Given the description of an element on the screen output the (x, y) to click on. 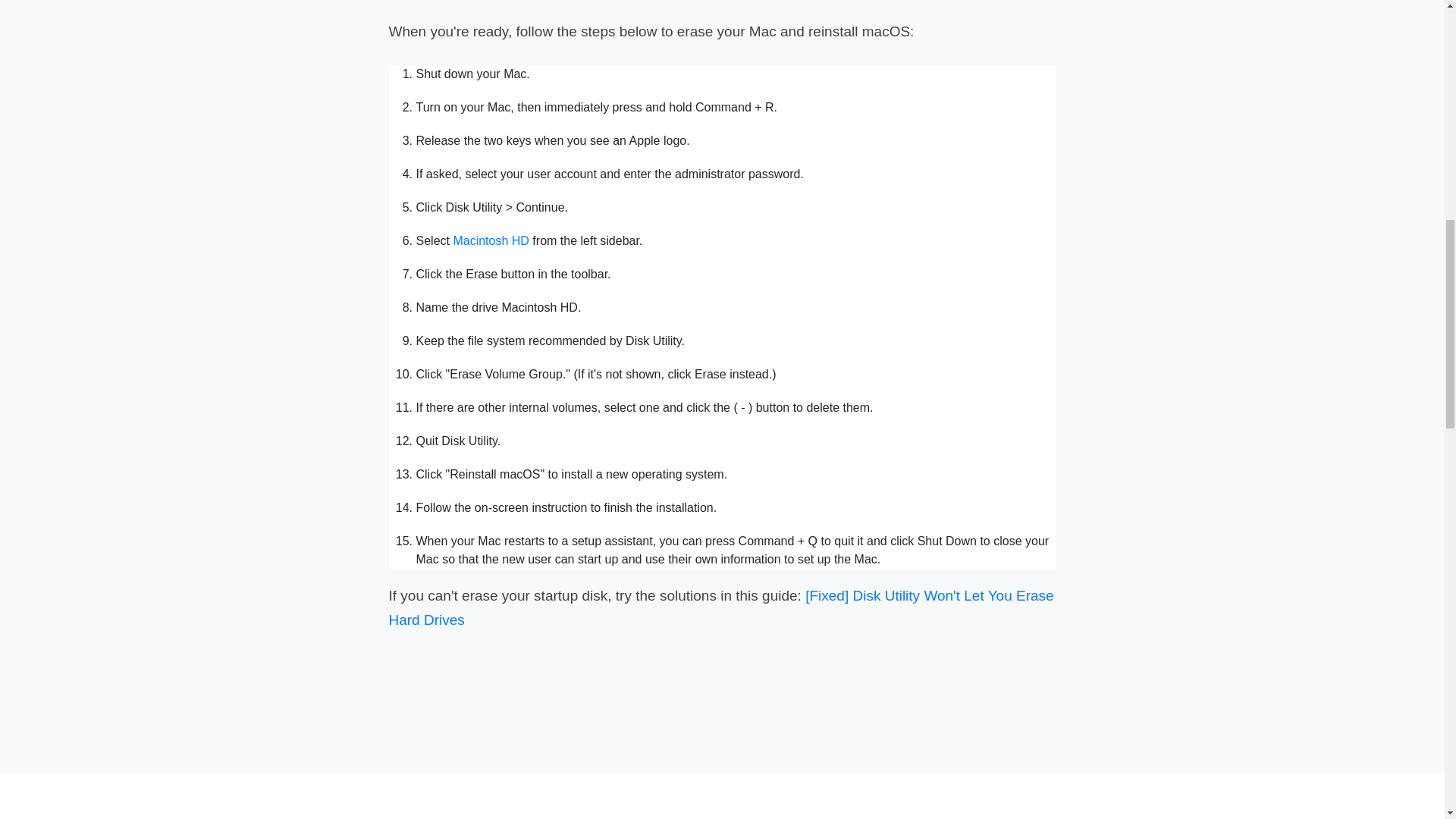
Macintosh HD (490, 240)
